Given the description of an element on the screen output the (x, y) to click on. 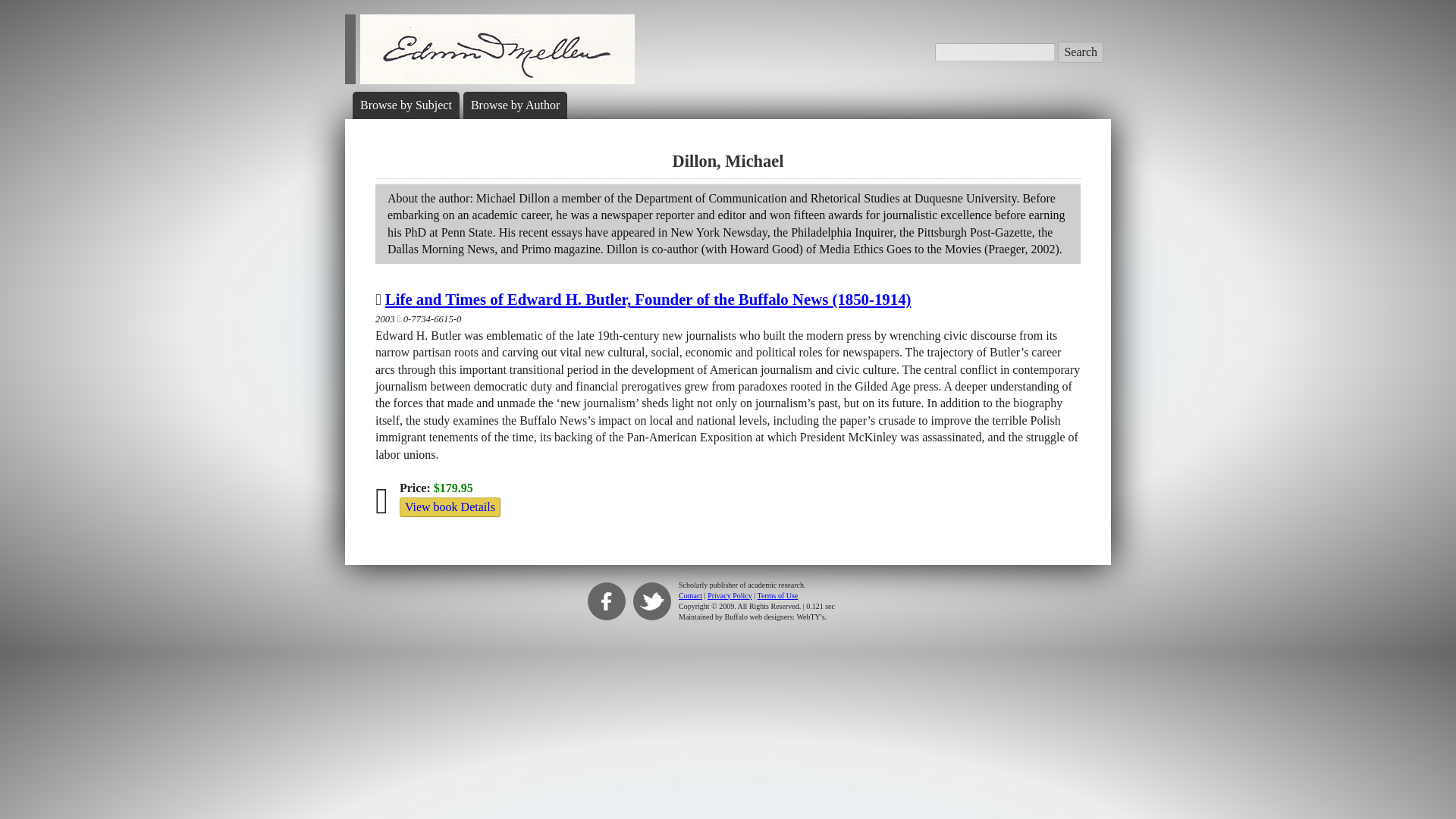
Buffalo web designers: WebTY's (775, 616)
Browse by Subject (405, 105)
View book Details (449, 506)
View book Details (449, 506)
Terms of Use (777, 595)
Contact (689, 595)
Privacy Policy (729, 595)
Browse by Author (514, 105)
Search (1080, 52)
